Given the description of an element on the screen output the (x, y) to click on. 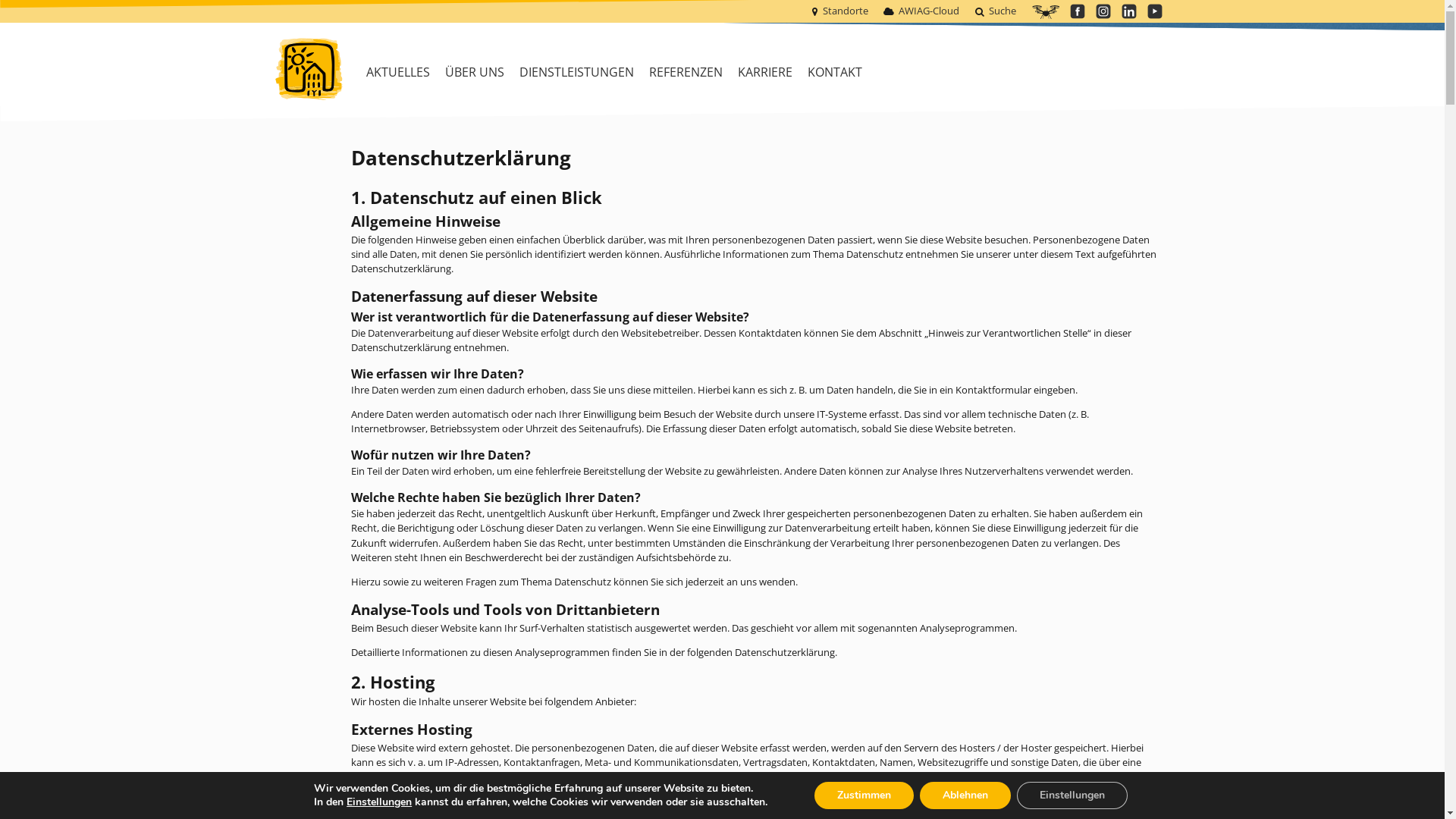
AKTUELLES Element type: text (396, 71)
REFERENZEN Element type: text (685, 71)
Instagram Element type: text (1102, 10)
Facebook Element type: text (1076, 10)
KONTAKT Element type: text (834, 71)
YouTube Element type: text (1153, 10)
Einstellungen Element type: text (1071, 795)
Zustimmen Element type: text (863, 795)
DIENSTLEISTUNGEN Element type: text (575, 71)
LinkedIn Element type: text (1127, 10)
Einstellungen Element type: text (378, 802)
Ablehnen Element type: text (964, 795)
Awiag Luftaufnahmen Element type: text (1044, 11)
KARRIERE Element type: text (764, 71)
